Given the description of an element on the screen output the (x, y) to click on. 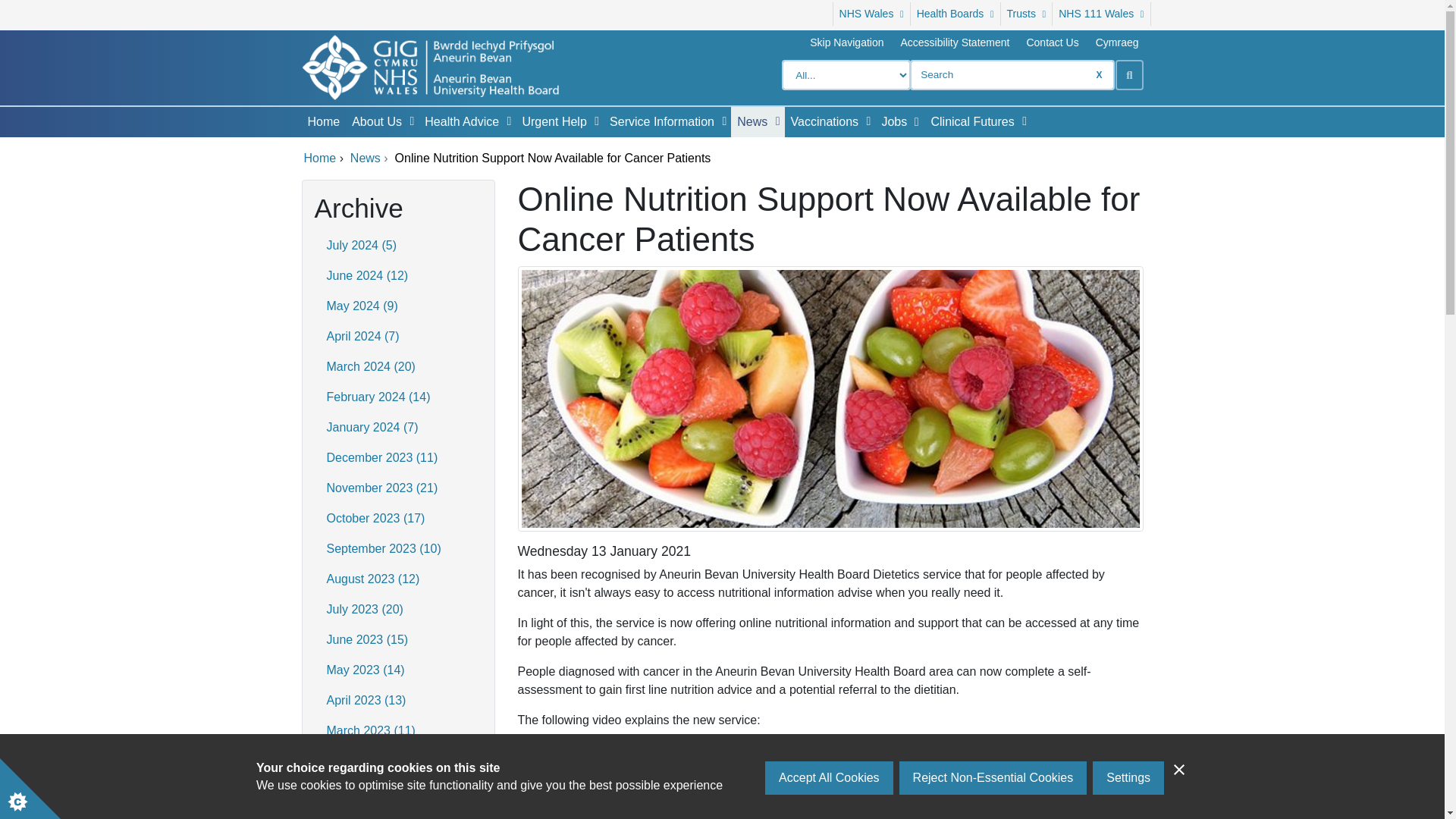
Show Submenu For About Us (411, 120)
Contact Us (1051, 42)
NHS Wales (871, 13)
Search (1128, 74)
Reject Non-Essential Cookies (993, 807)
Accept All Cookies (829, 815)
About Us (373, 122)
NHS 111 Wales (1101, 13)
Cymraeg (1117, 42)
Home (323, 122)
Accessibility Statement (955, 42)
Settings (1128, 802)
Trusts (1026, 13)
Health Boards (955, 13)
Skip Navigation (846, 42)
